Given the description of an element on the screen output the (x, y) to click on. 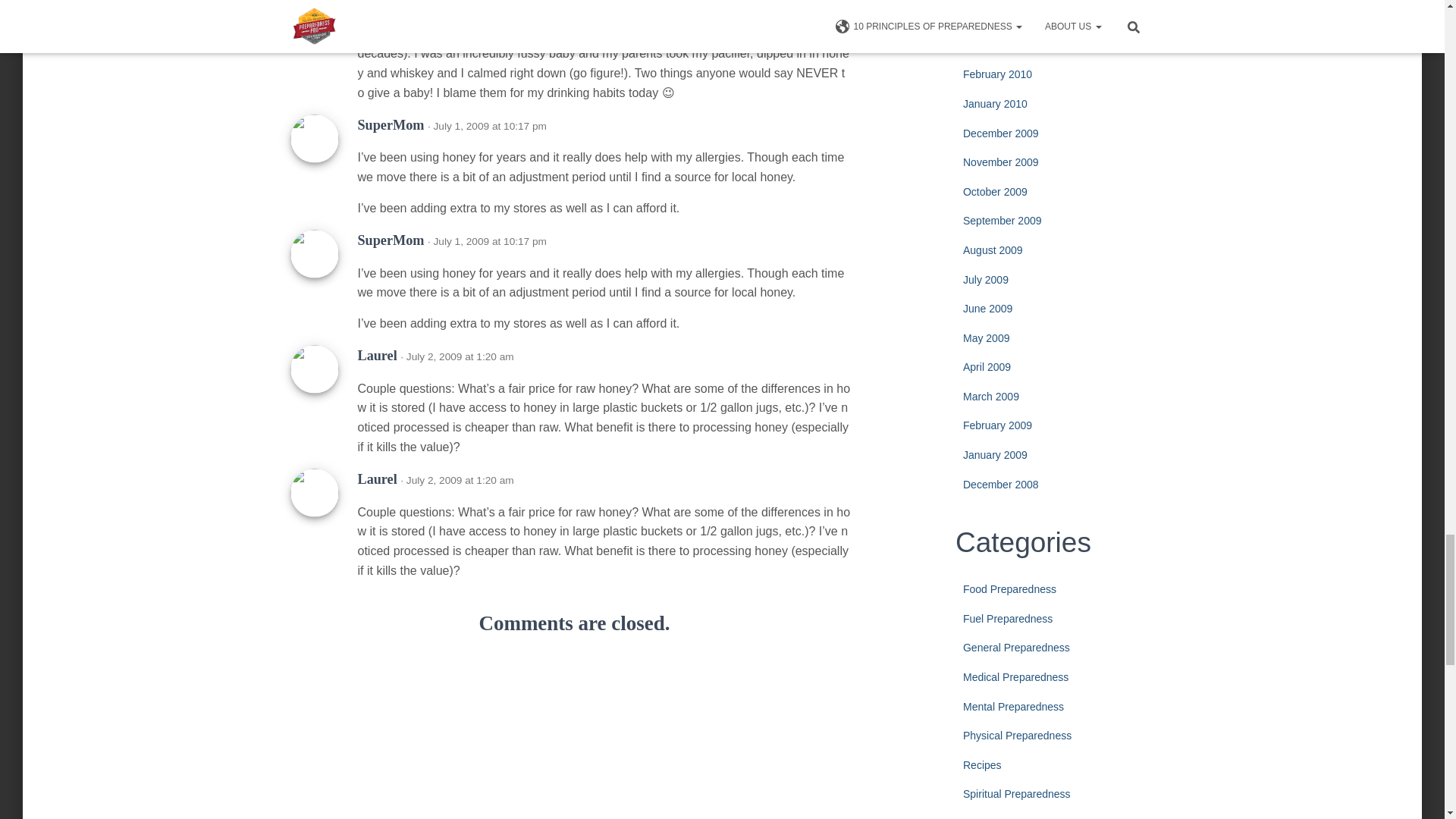
SuperMom (391, 124)
